Given the description of an element on the screen output the (x, y) to click on. 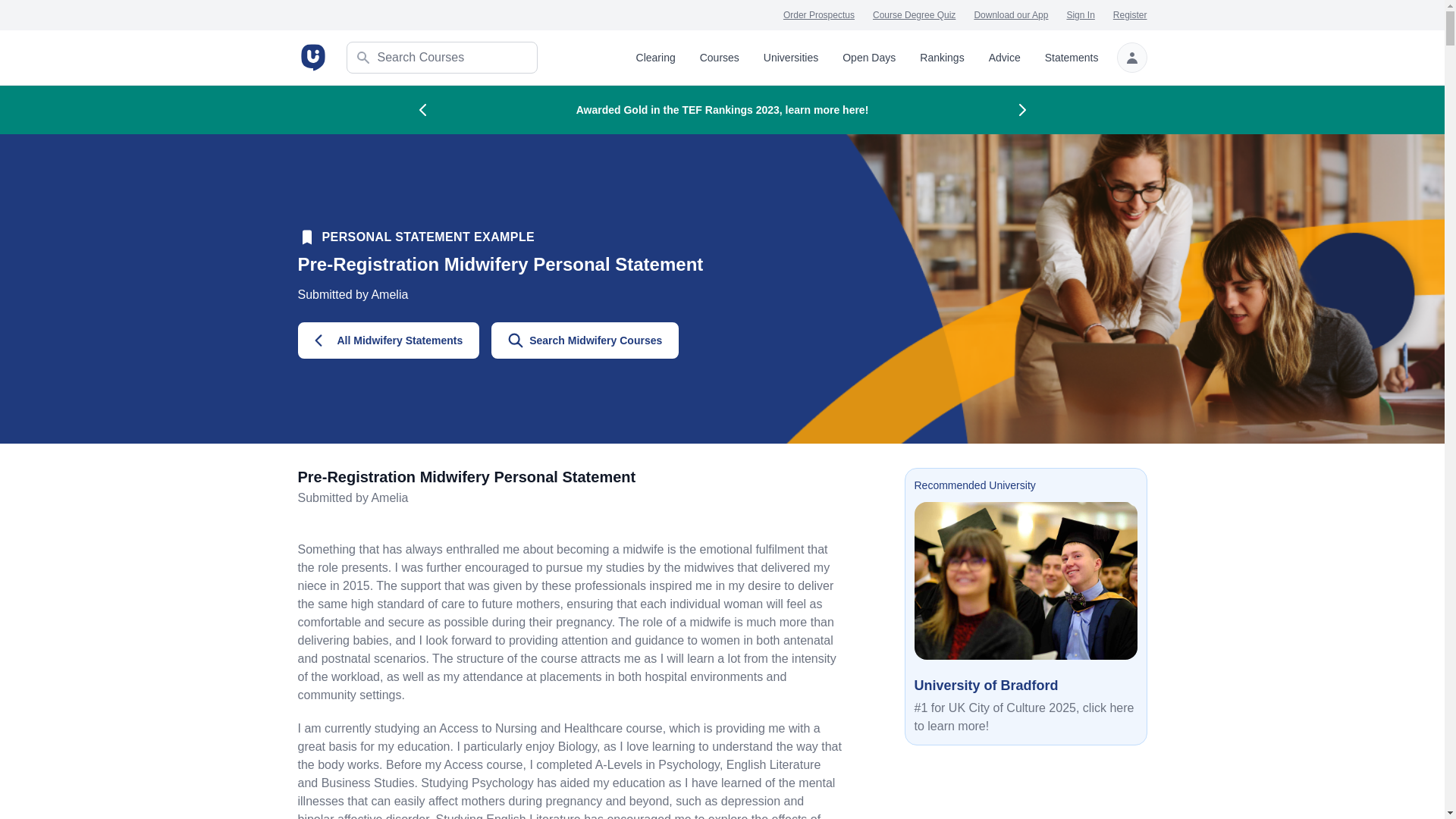
Open user menu (1131, 57)
Universities (790, 57)
Download our App (1011, 15)
Course Degree Quiz (913, 15)
Statements (1072, 57)
Order Prospectus (818, 15)
Register (1130, 15)
Open Days (869, 57)
Sign In (1079, 15)
